Given the description of an element on the screen output the (x, y) to click on. 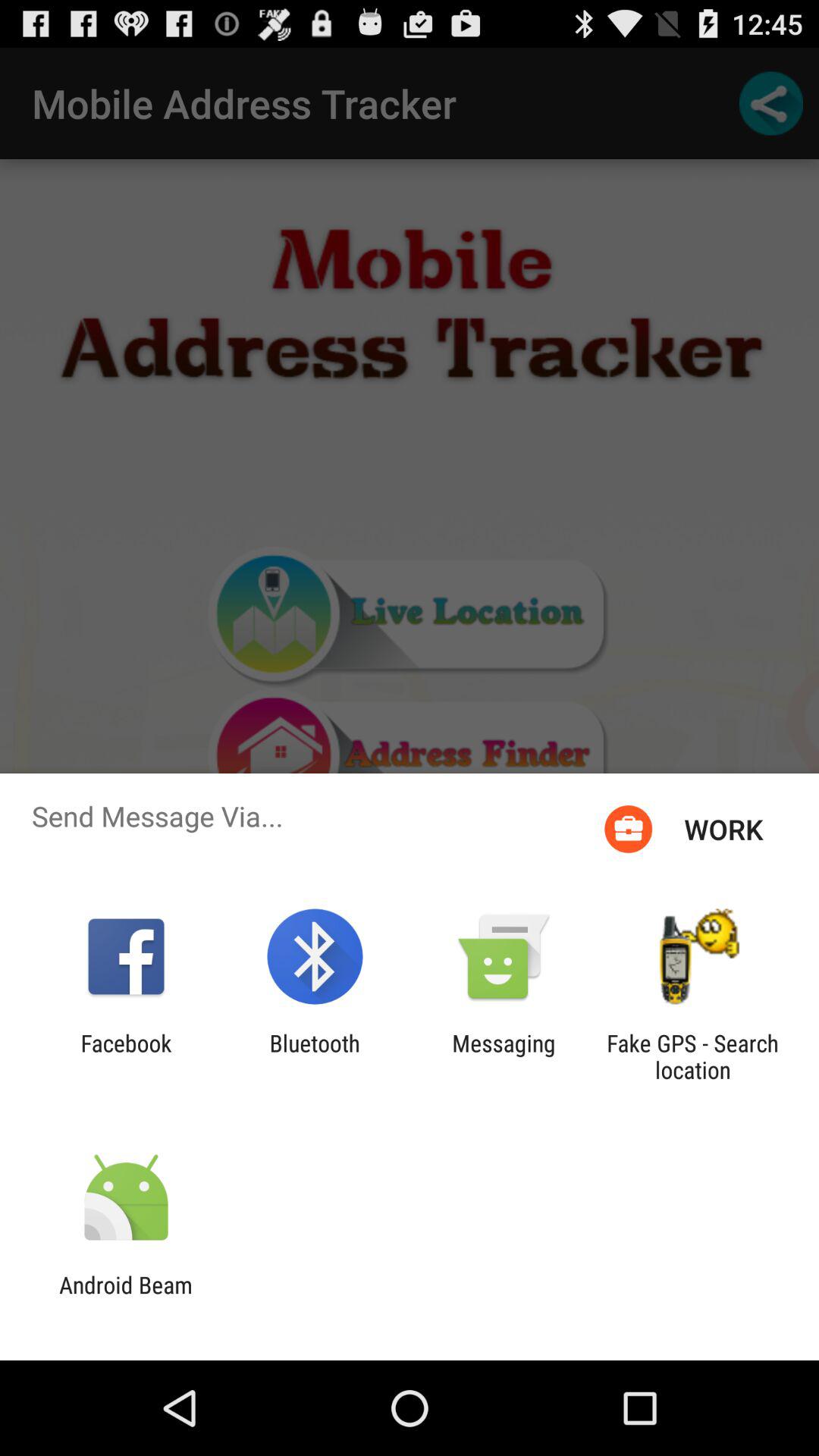
scroll to the facebook item (125, 1056)
